Given the description of an element on the screen output the (x, y) to click on. 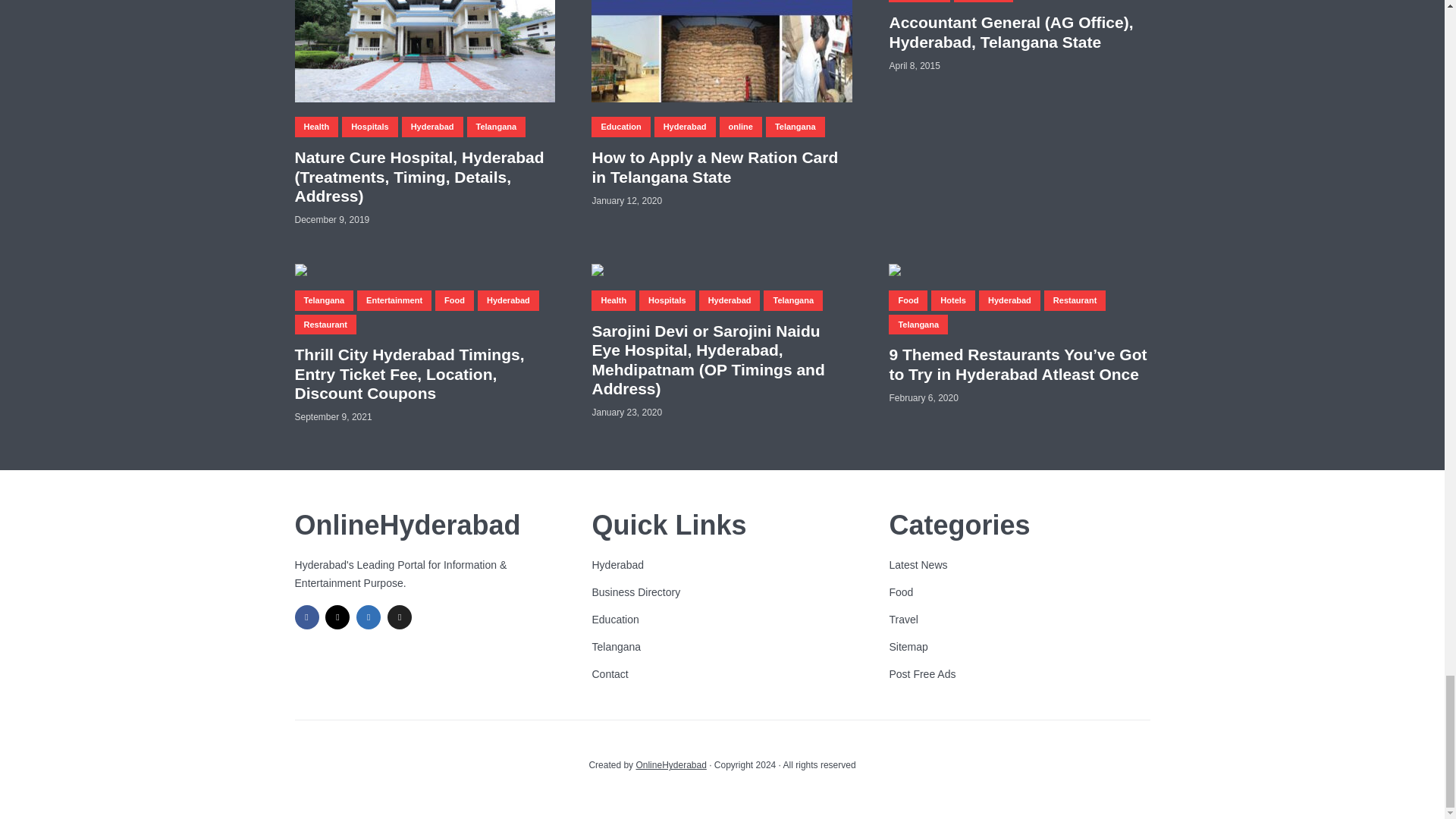
Instagram (336, 617)
Facebook (306, 617)
Linkedin (368, 617)
